Given the description of an element on the screen output the (x, y) to click on. 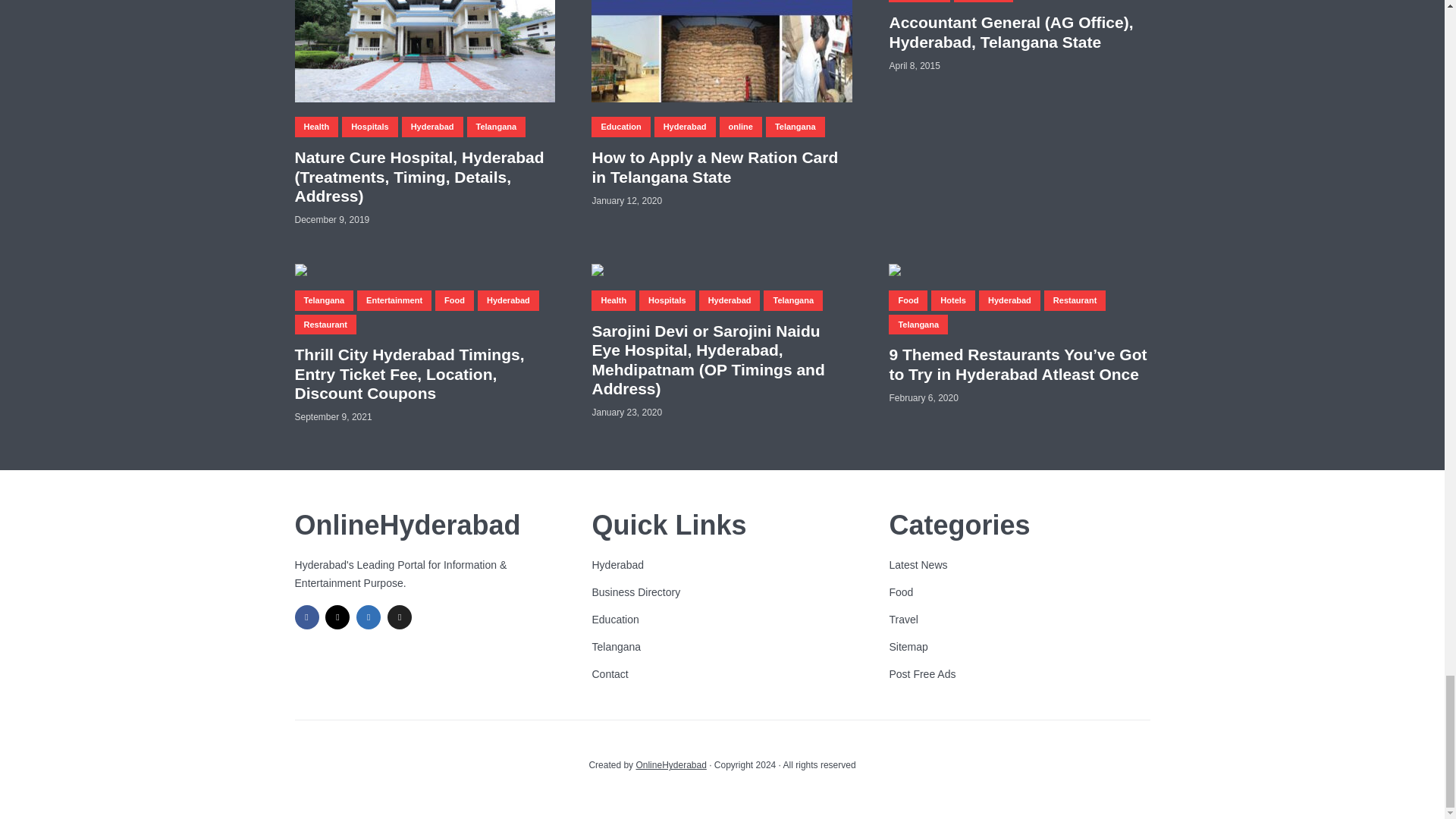
Instagram (336, 617)
Facebook (306, 617)
Linkedin (368, 617)
